Given the description of an element on the screen output the (x, y) to click on. 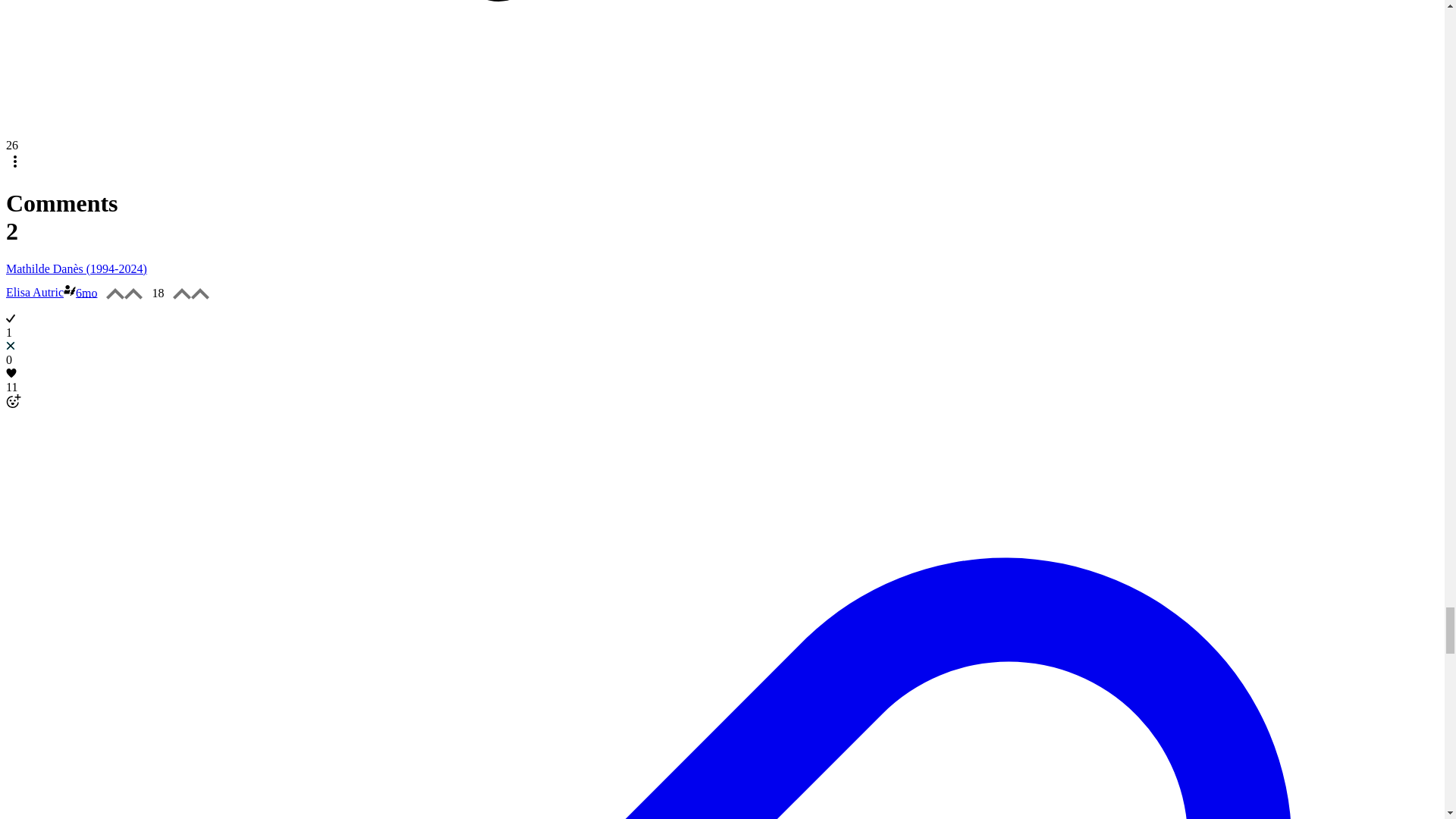
6mo (86, 291)
